Given the description of an element on the screen output the (x, y) to click on. 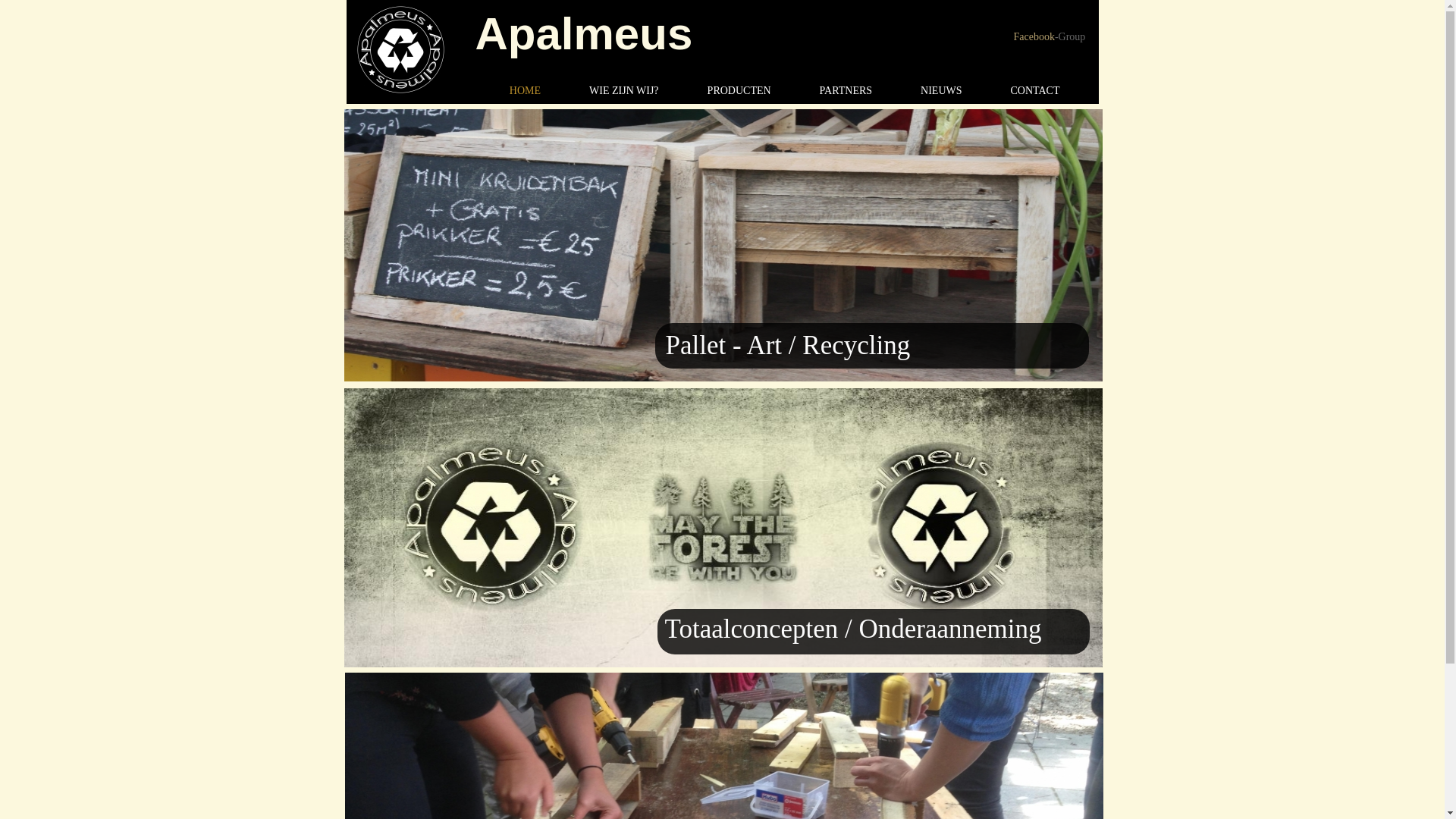
PARTNERS Element type: text (845, 90)
CONTACT Element type: text (1034, 90)
WIE ZIJN WIJ? Element type: text (623, 90)
PRODUCTEN Element type: text (739, 90)
HOME Element type: text (524, 90)
Pallet - Art / Recycling Element type: text (787, 345)
Totaalconcepten / Onderaanneming Element type: text (852, 628)
NIEUWS Element type: text (940, 90)
Facebook Element type: text (1033, 36)
